Given the description of an element on the screen output the (x, y) to click on. 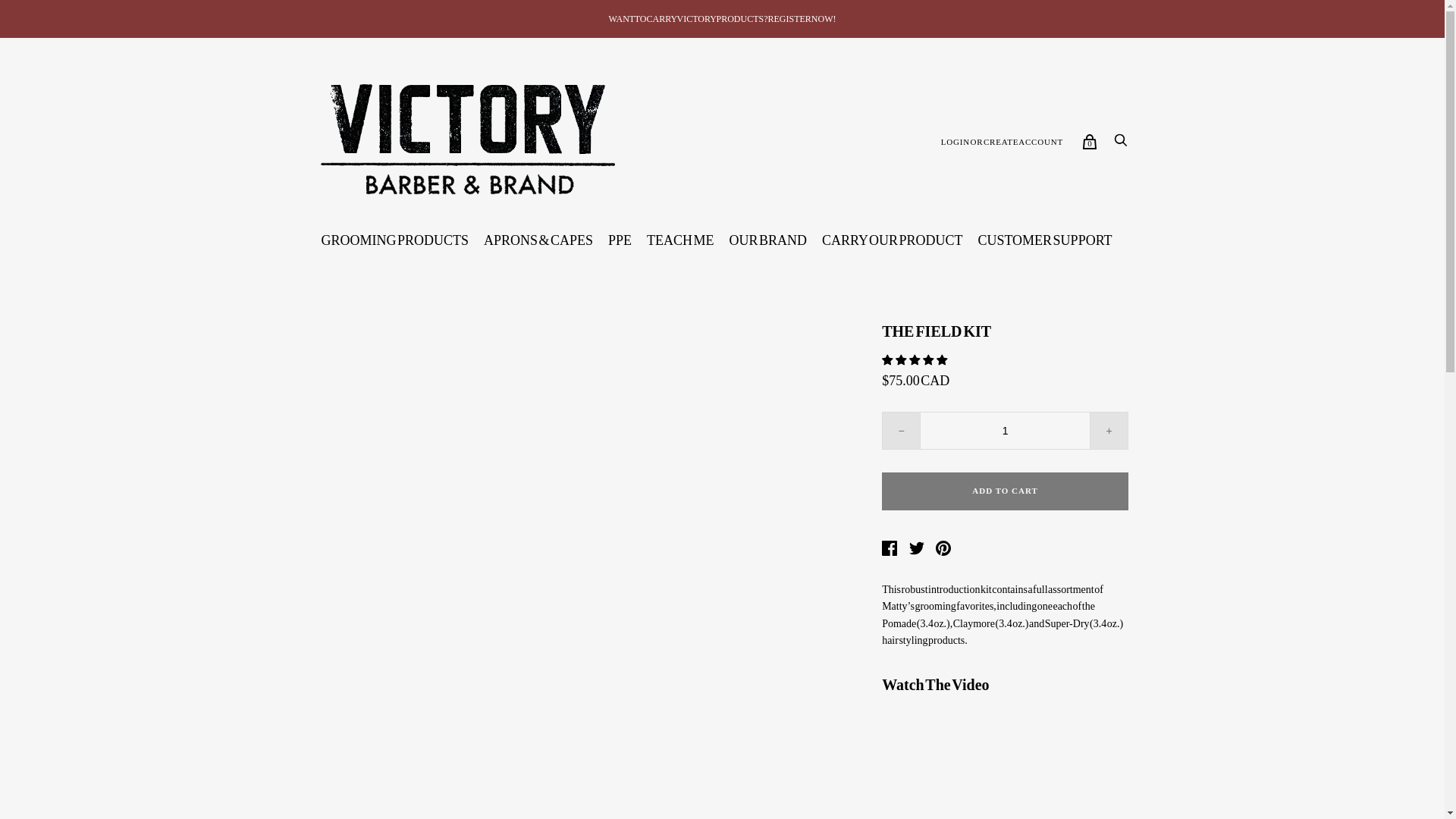
GROOMING PRODUCTS (394, 240)
PPE (619, 240)
OUR BRAND (768, 240)
1 (1005, 430)
TEACH ME (680, 240)
CARRY OUR PRODUCT (891, 240)
